Given the description of an element on the screen output the (x, y) to click on. 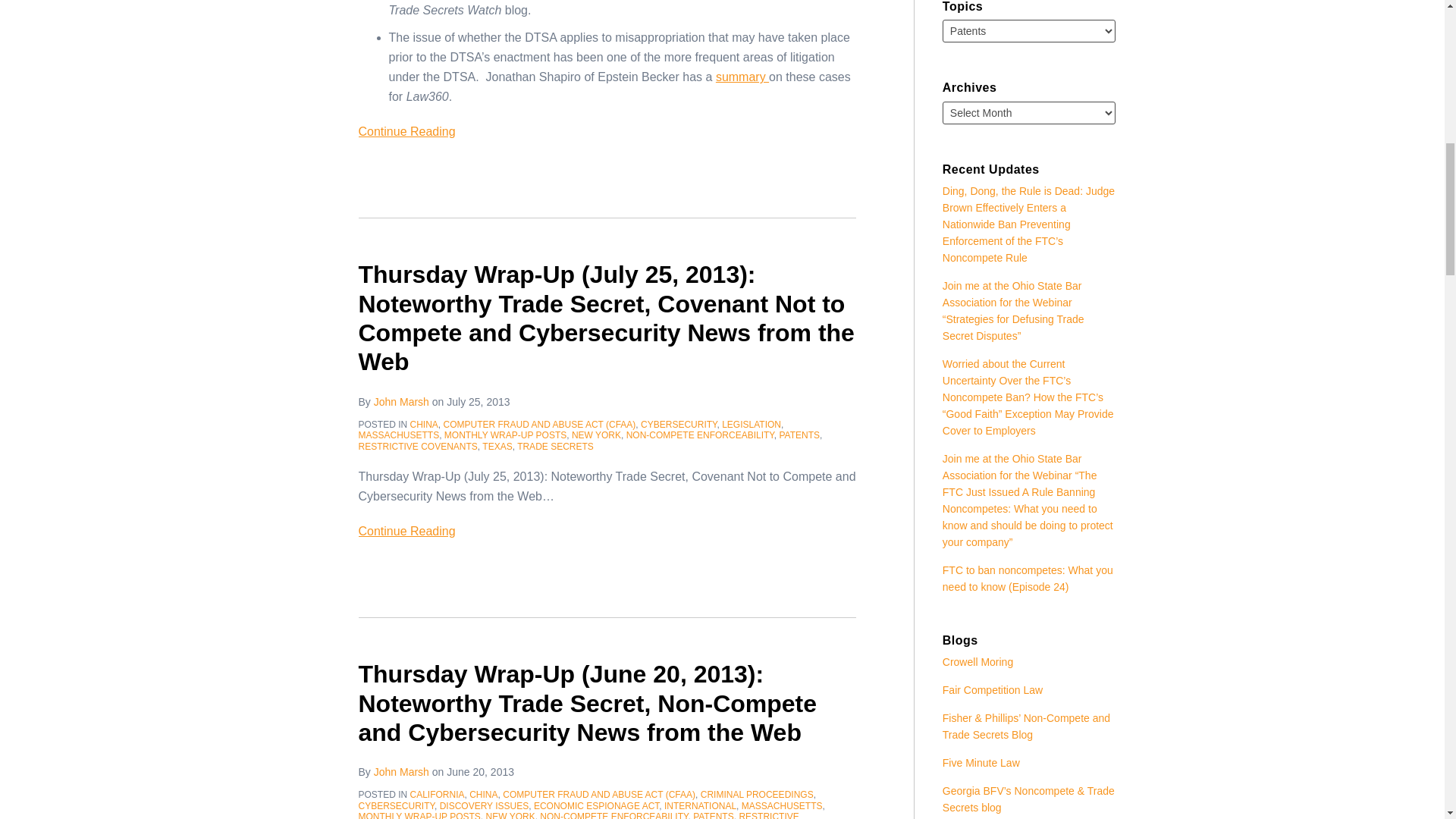
RESTRICTIVE COVENANTS (417, 446)
PATENTS (799, 434)
John Marsh (401, 401)
CHINA (424, 424)
summary (742, 76)
NEW YORK (596, 434)
NON-COMPETE ENFORCEABILITY (700, 434)
MONTHLY WRAP-UP POSTS (505, 434)
